Given the description of an element on the screen output the (x, y) to click on. 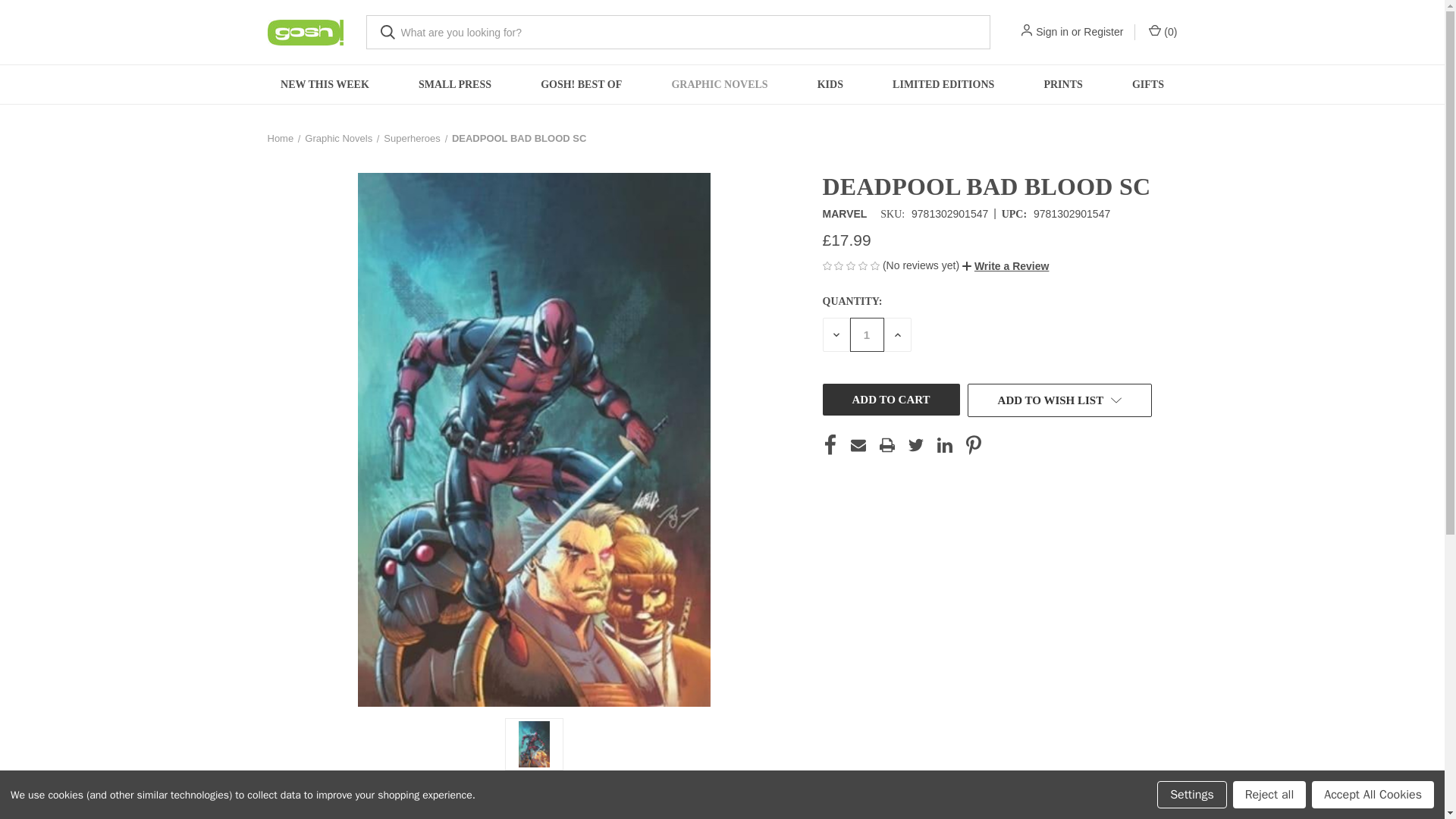
SMALL PRESS (454, 84)
GOSH! BEST OF (581, 84)
GRAPHIC NOVELS (719, 84)
Add to Cart (890, 399)
1 (865, 334)
Register (1102, 32)
NEW THIS WEEK (325, 84)
Sign in (1051, 32)
Gosh! Comics (304, 32)
